Given the description of an element on the screen output the (x, y) to click on. 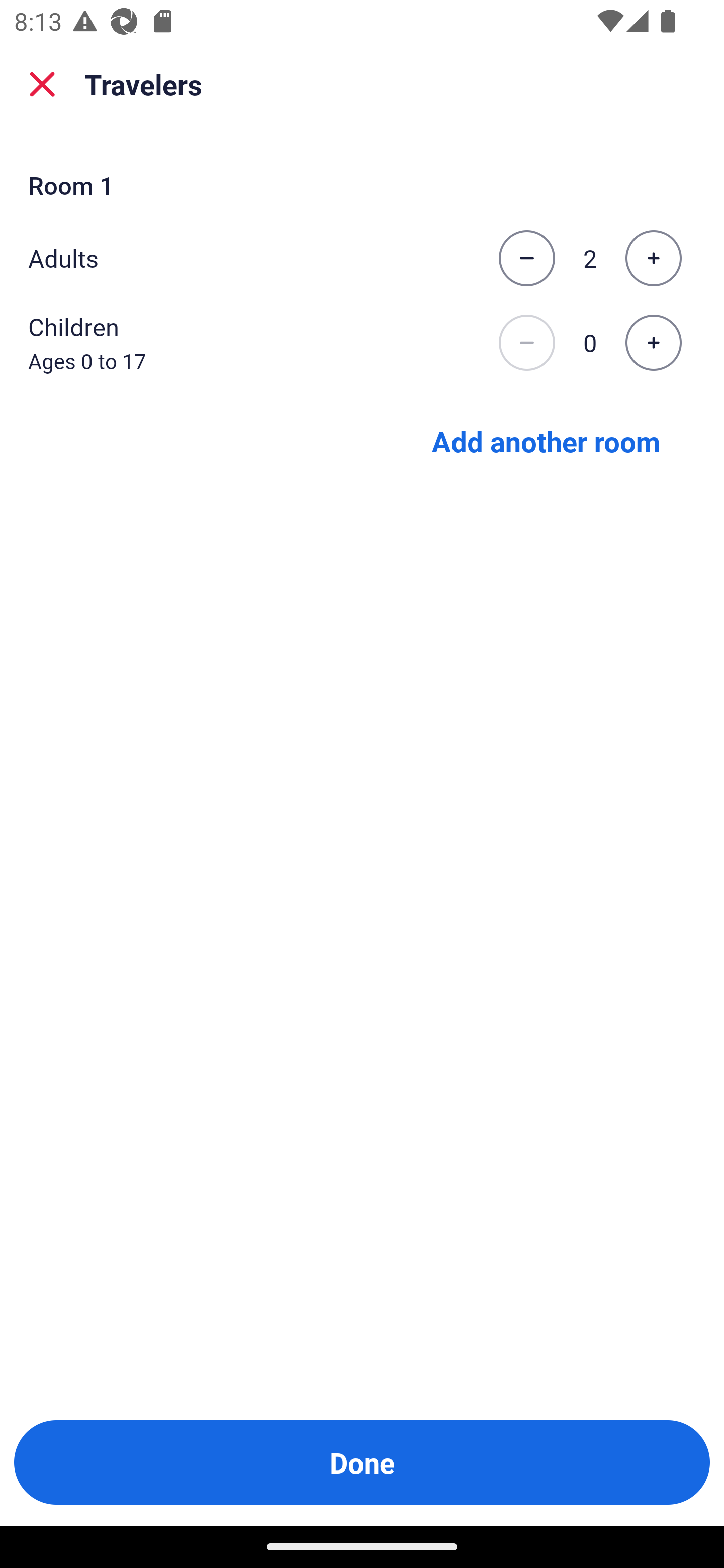
close (42, 84)
Decrease the number of adults (526, 258)
Increase the number of adults (653, 258)
Decrease the number of children (526, 343)
Increase the number of children (653, 343)
Add another room (545, 440)
Done (361, 1462)
